Given the description of an element on the screen output the (x, y) to click on. 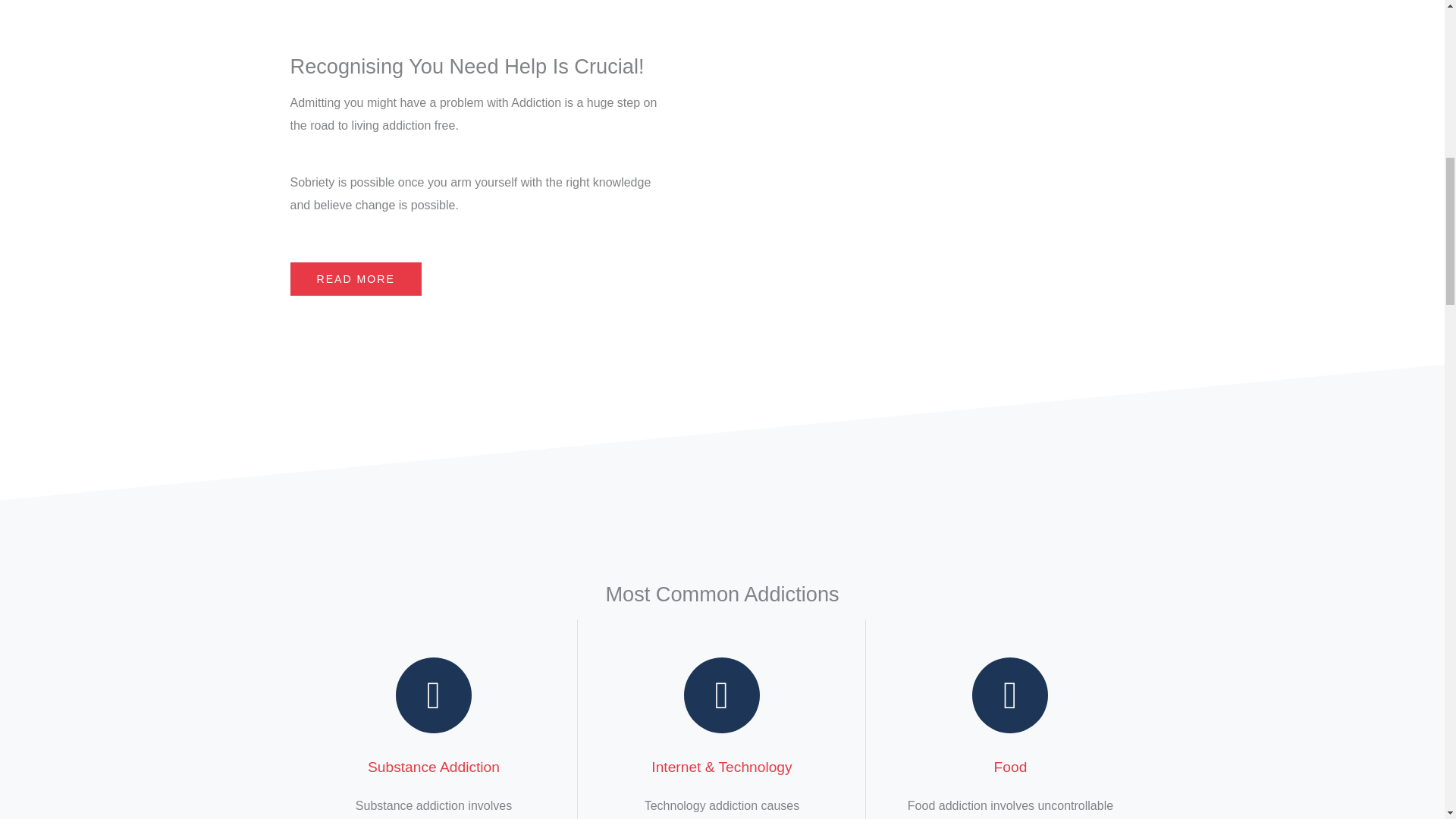
READ MORE (354, 278)
